Given the description of an element on the screen output the (x, y) to click on. 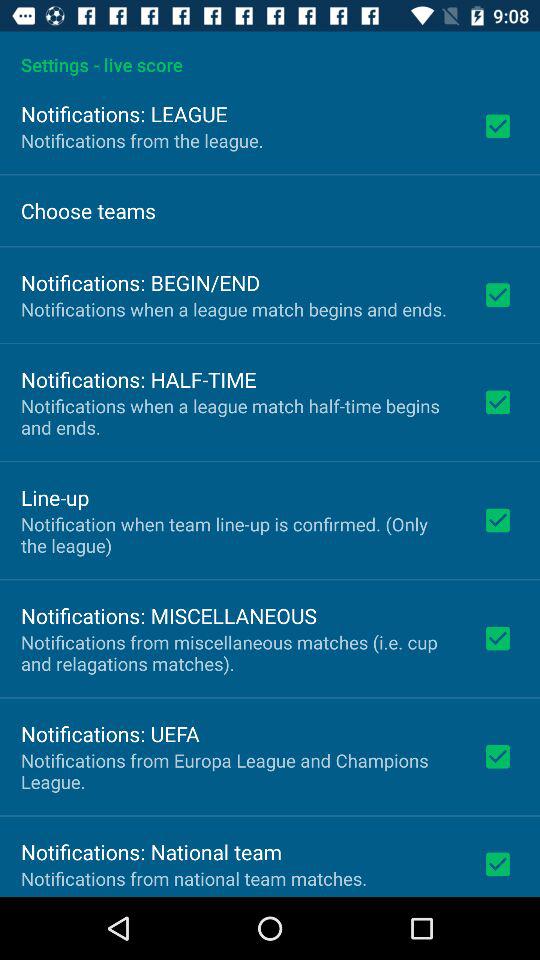
choose the app above the notifications: league app (270, 54)
